Given the description of an element on the screen output the (x, y) to click on. 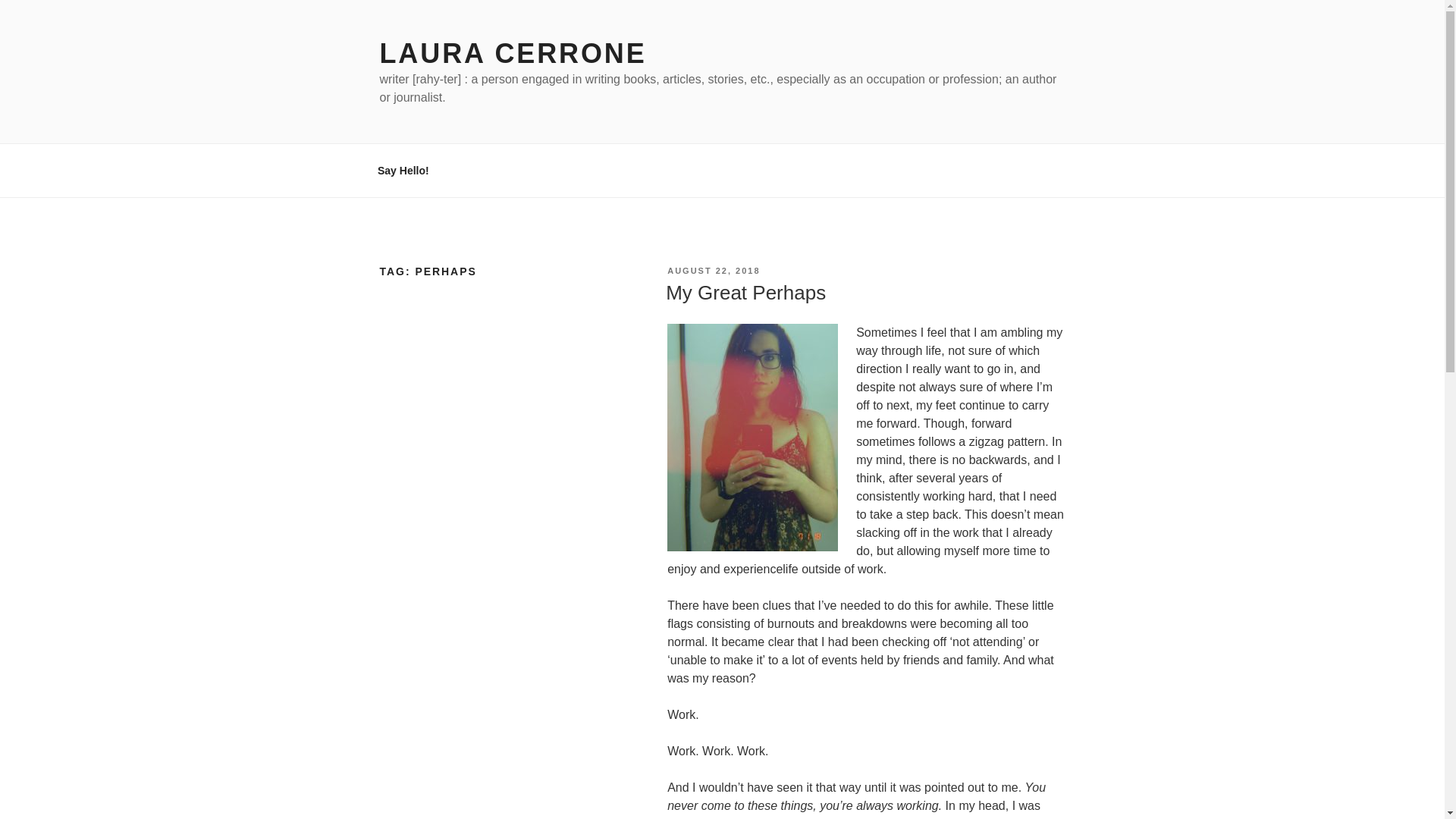
My Great Perhaps (745, 292)
Say Hello! (403, 170)
LAURA CERRONE (512, 52)
AUGUST 22, 2018 (713, 270)
